Given the description of an element on the screen output the (x, y) to click on. 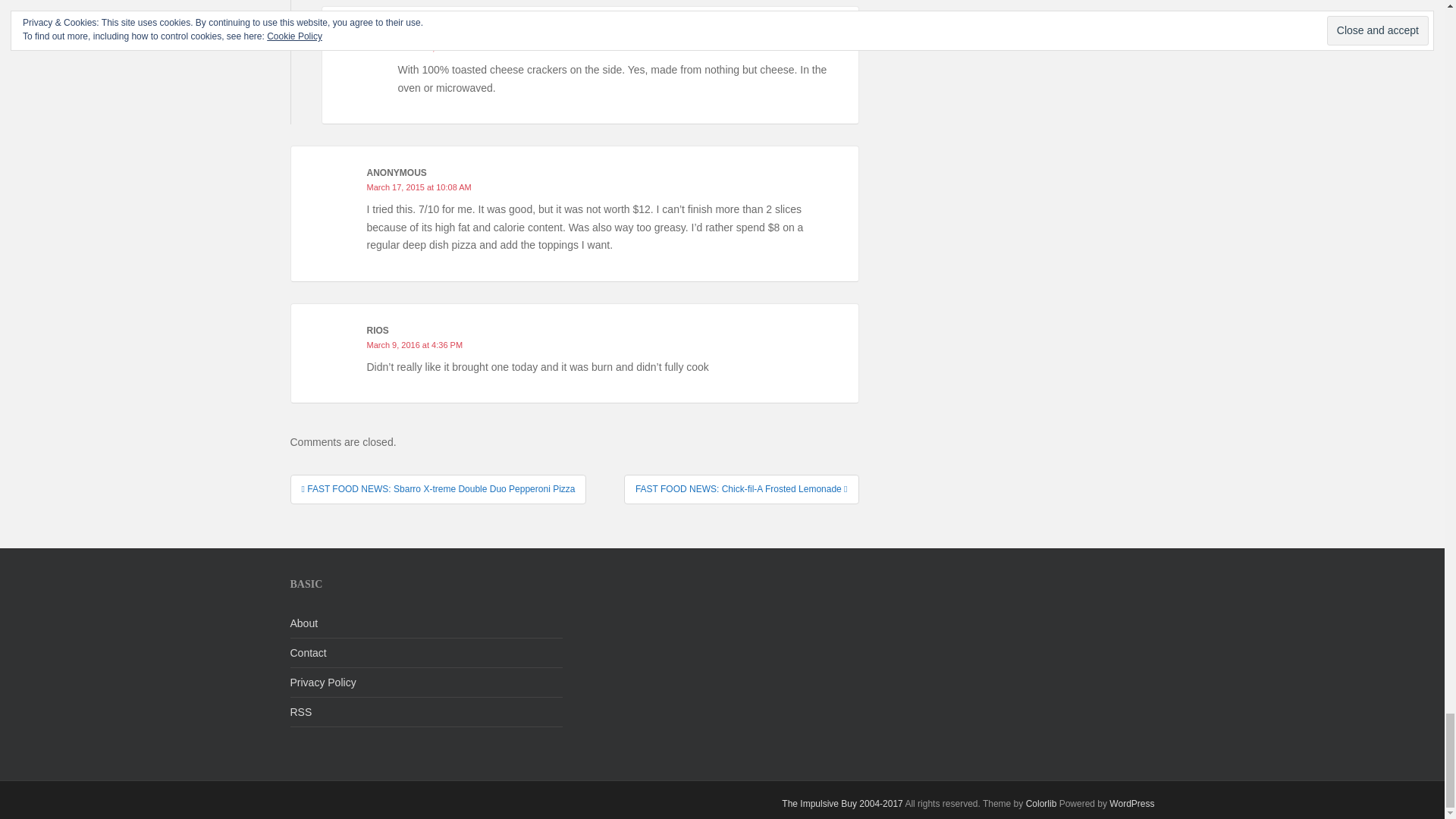
March 17, 2015 at 10:08 AM (418, 186)
FAST FOOD NEWS: Sbarro X-treme Double Duo Pepperoni Pizza (437, 489)
FAST FOOD NEWS: Chick-fil-A Frosted Lemonade (741, 489)
March 9, 2016 at 4:36 PM (414, 344)
March 17, 2015 at 10:37 PM (449, 47)
